Given the description of an element on the screen output the (x, y) to click on. 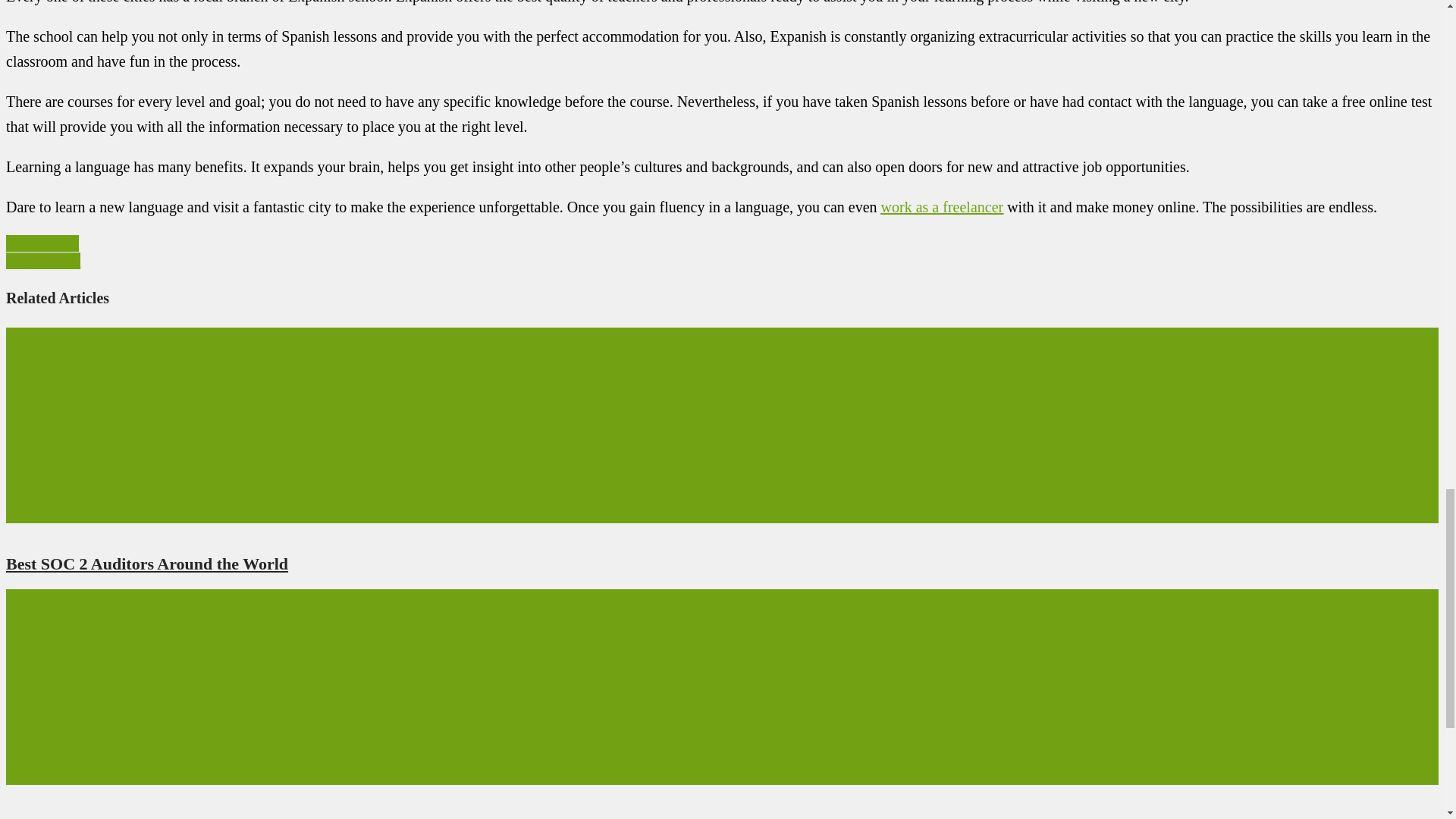
Next Article (42, 260)
Best SOC 2 Auditors Around the World (146, 563)
Best SOC 2 Auditors Around the World (146, 563)
Prev Article (41, 243)
work as a freelancer (942, 207)
